Given the description of an element on the screen output the (x, y) to click on. 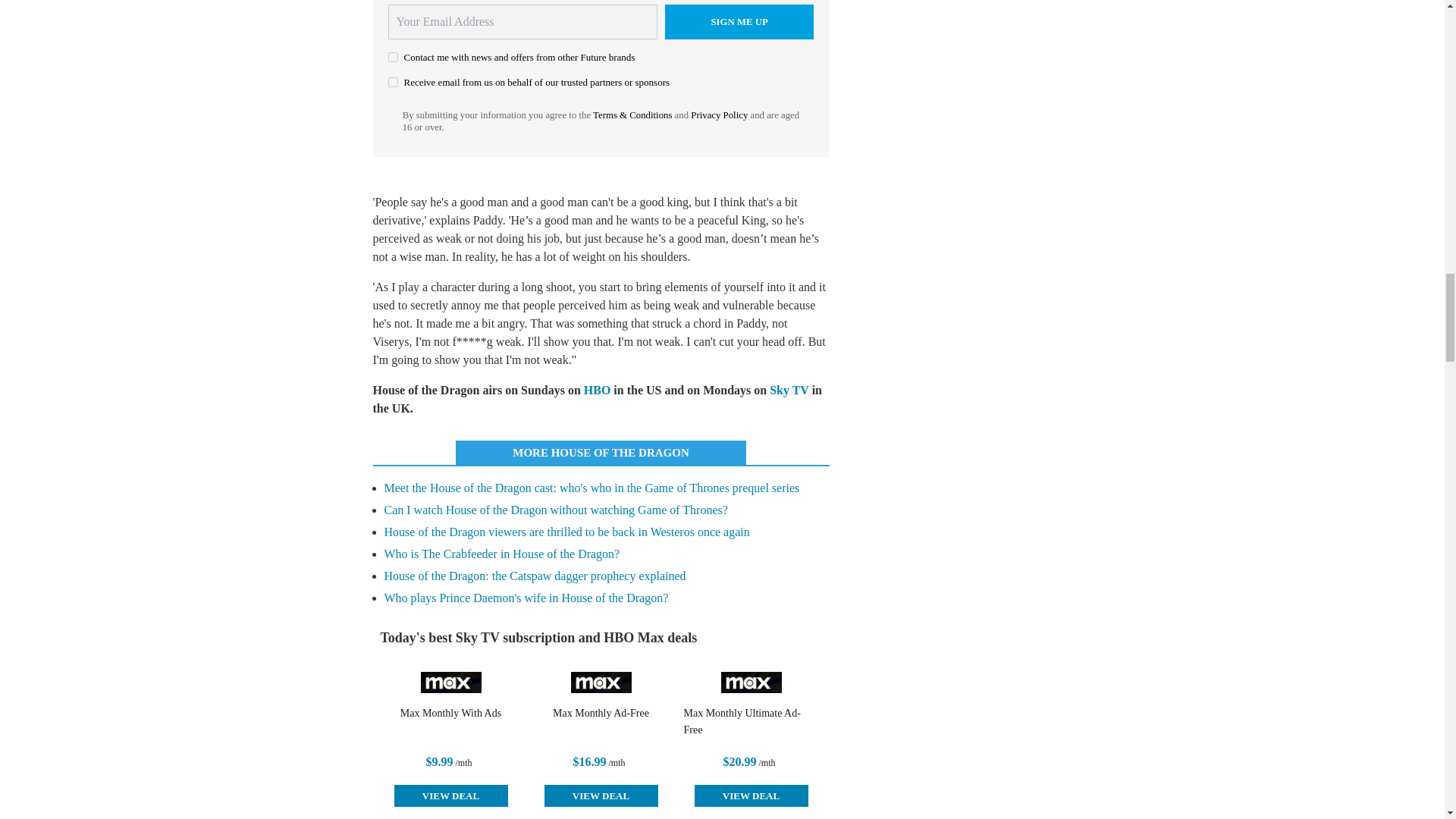
on (392, 57)
Sign me up (739, 21)
Max (750, 682)
Max (450, 682)
Max (600, 682)
on (392, 81)
